Given the description of an element on the screen output the (x, y) to click on. 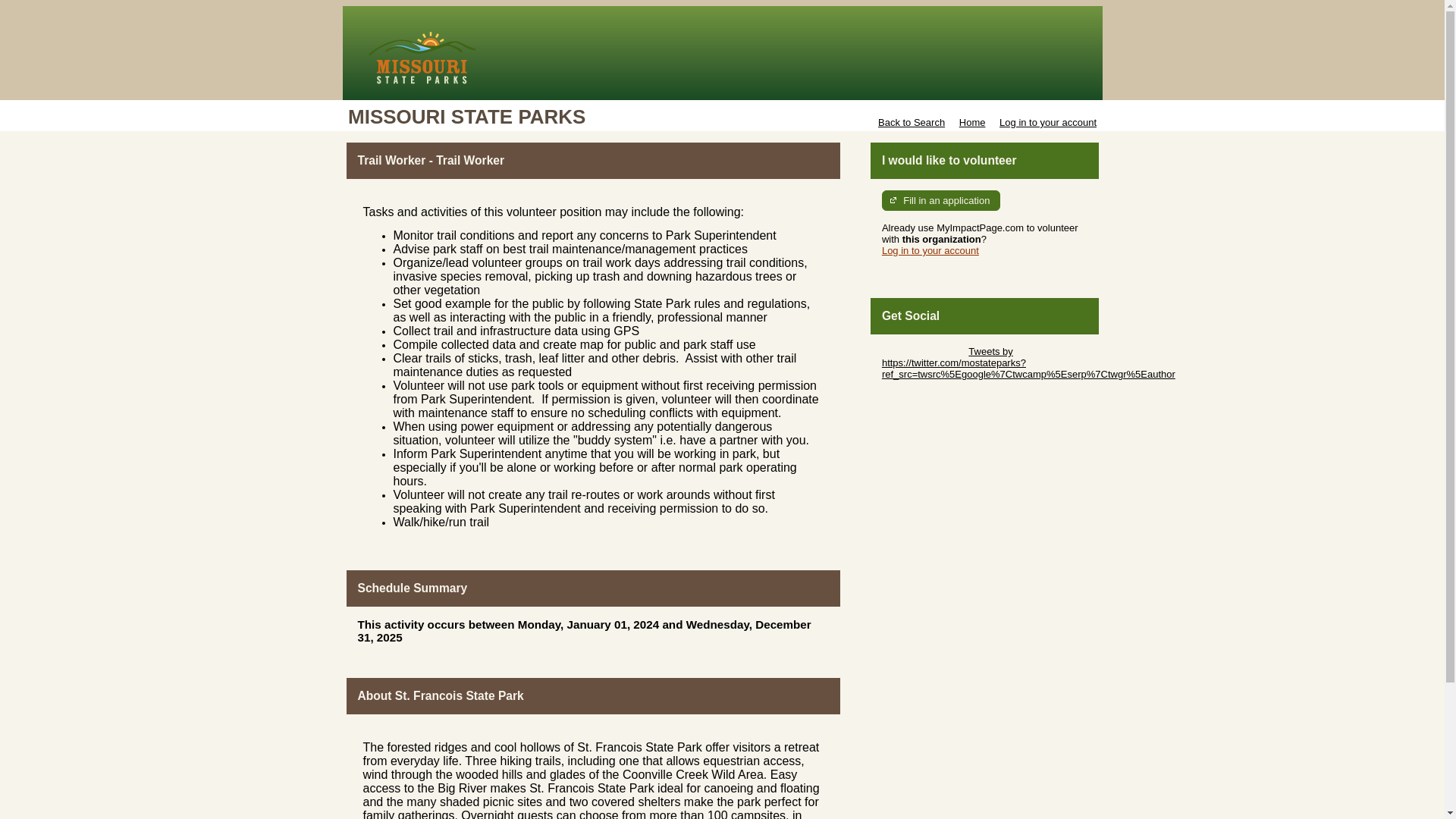
Home (972, 122)
Skip Twitter Widget (924, 351)
Back to Search (910, 122)
Fill in an application (941, 200)
Log in to your account (930, 250)
Log in to your account (1047, 122)
Missouri State Parks's Home Page (722, 52)
